Given the description of an element on the screen output the (x, y) to click on. 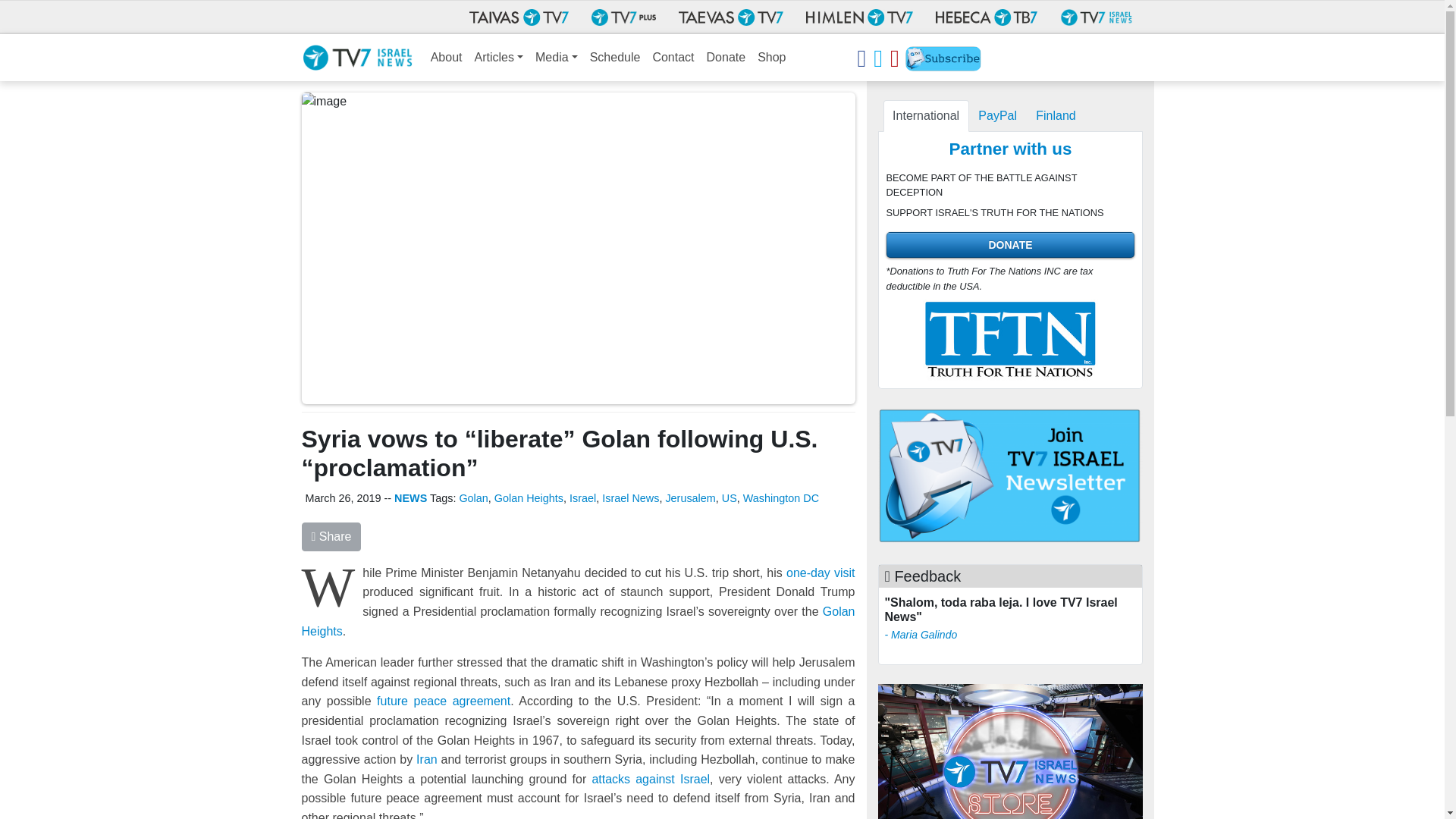
Golan Heights (529, 498)
US (729, 498)
Shop (771, 57)
About (446, 57)
Israel News (630, 498)
Newsletter (943, 60)
Washington DC (780, 498)
Contact (673, 57)
Share (331, 536)
Golan (472, 498)
